Given the description of an element on the screen output the (x, y) to click on. 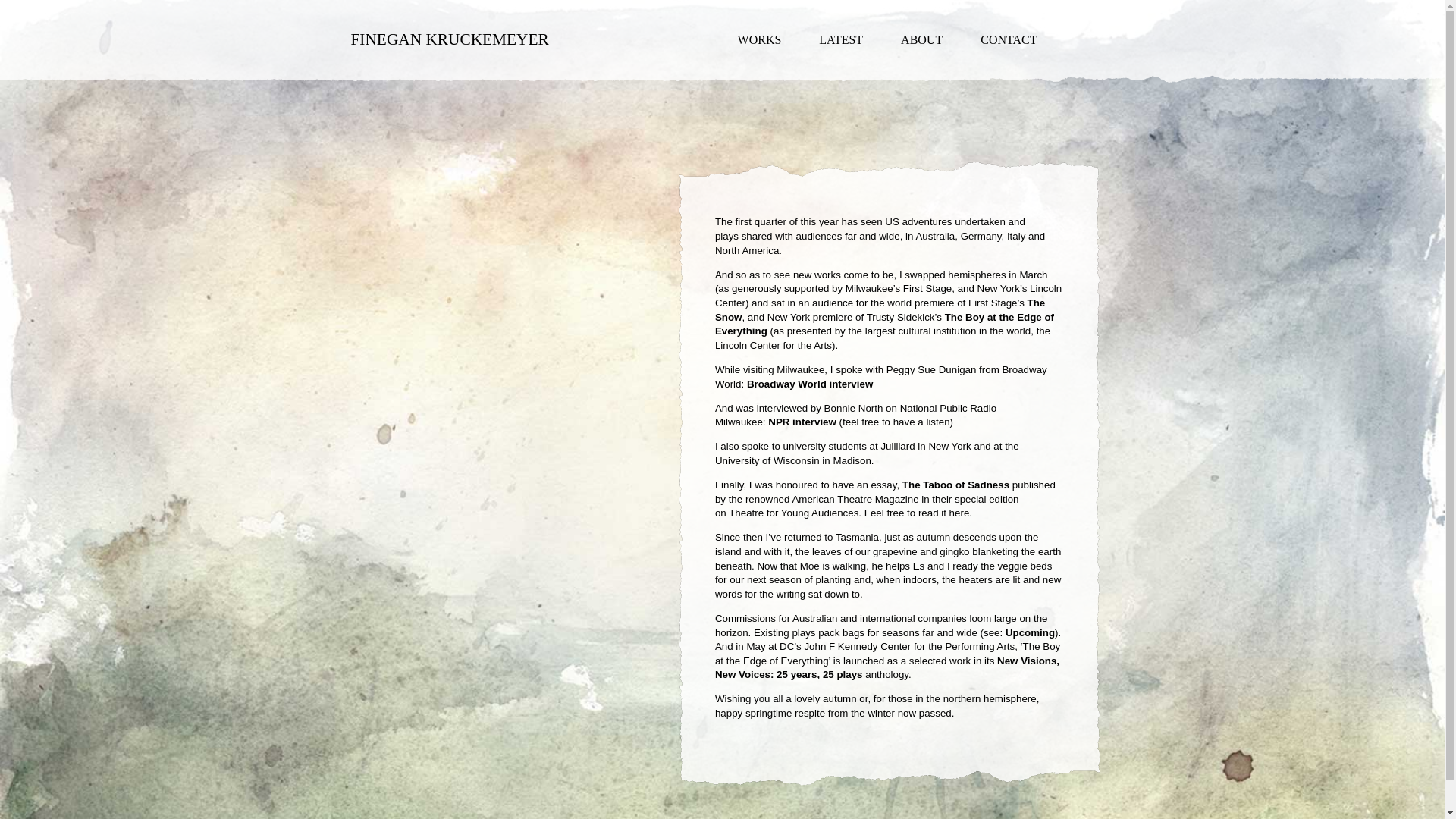
The Boy at the Edge of Everything (884, 324)
WORKS (759, 39)
New Visions, New Voices: 25 years, 25 plays (886, 667)
Upcoming (1030, 632)
NPR interview (801, 421)
FINEGAN KRUCKEMEYER (449, 39)
The Taboo of Sadness (955, 484)
Broadway World interview (809, 383)
CONTACT (1007, 39)
ABOUT (921, 39)
